Given the description of an element on the screen output the (x, y) to click on. 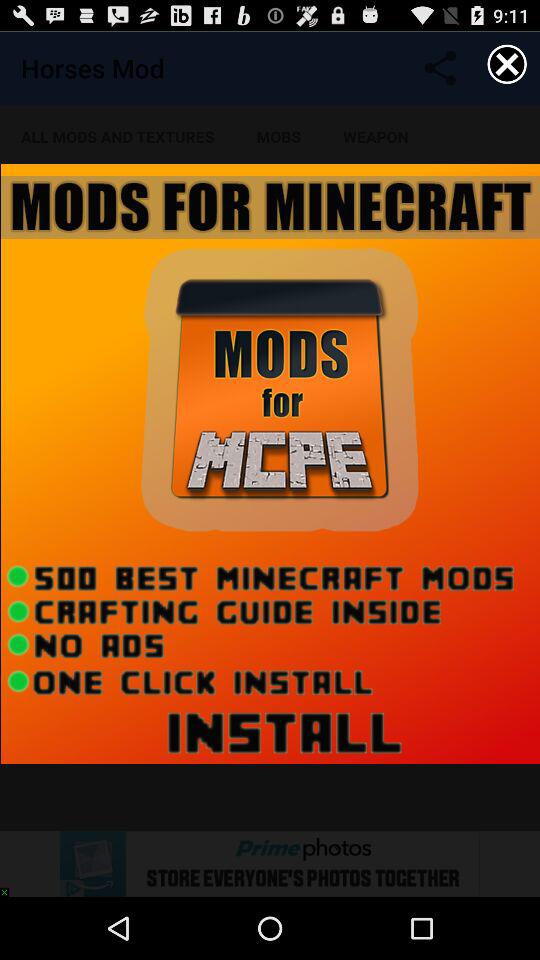
close (507, 64)
